Given the description of an element on the screen output the (x, y) to click on. 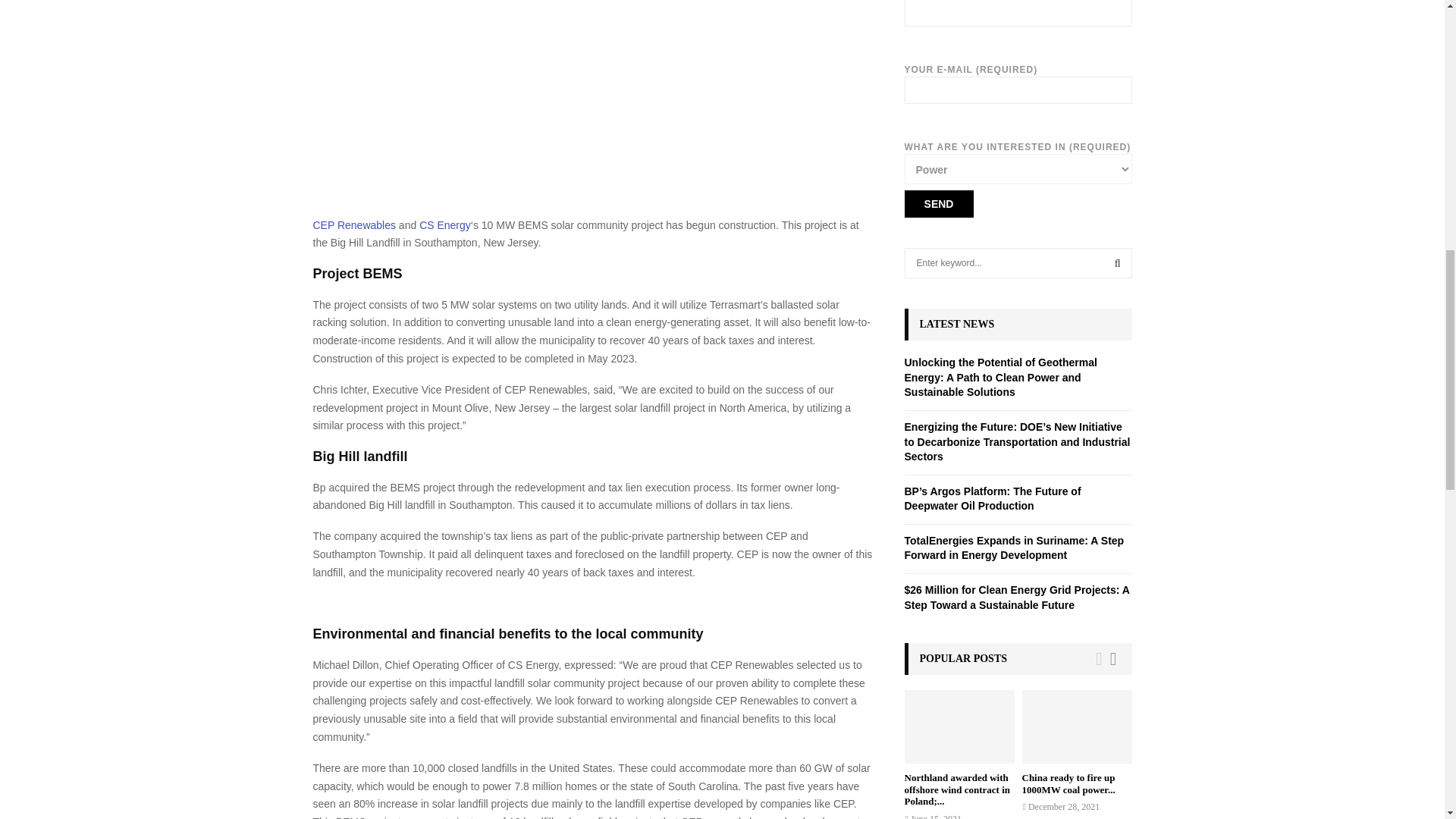
Send (938, 203)
